Given the description of an element on the screen output the (x, y) to click on. 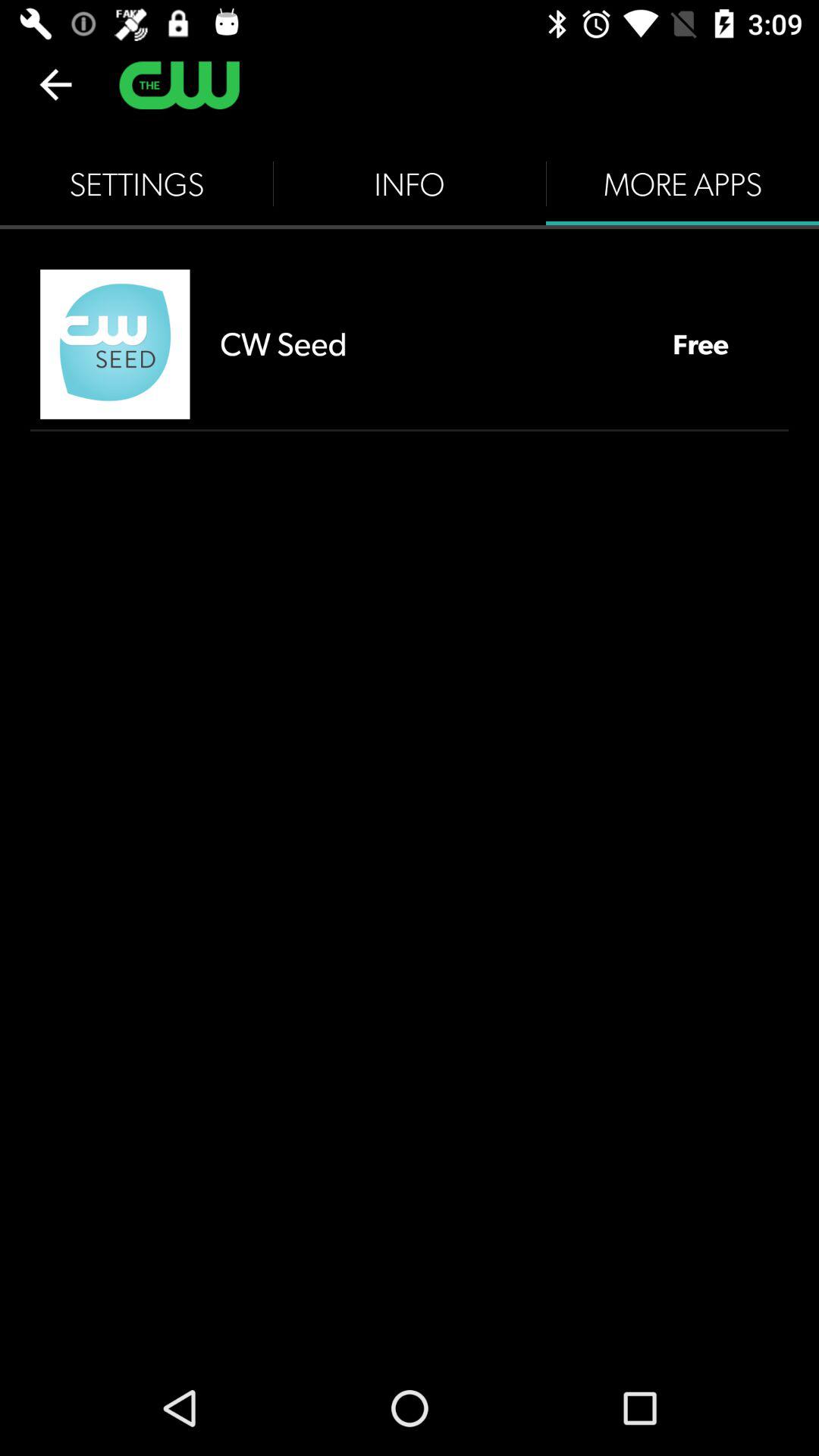
swipe to cw seed item (431, 343)
